Given the description of an element on the screen output the (x, y) to click on. 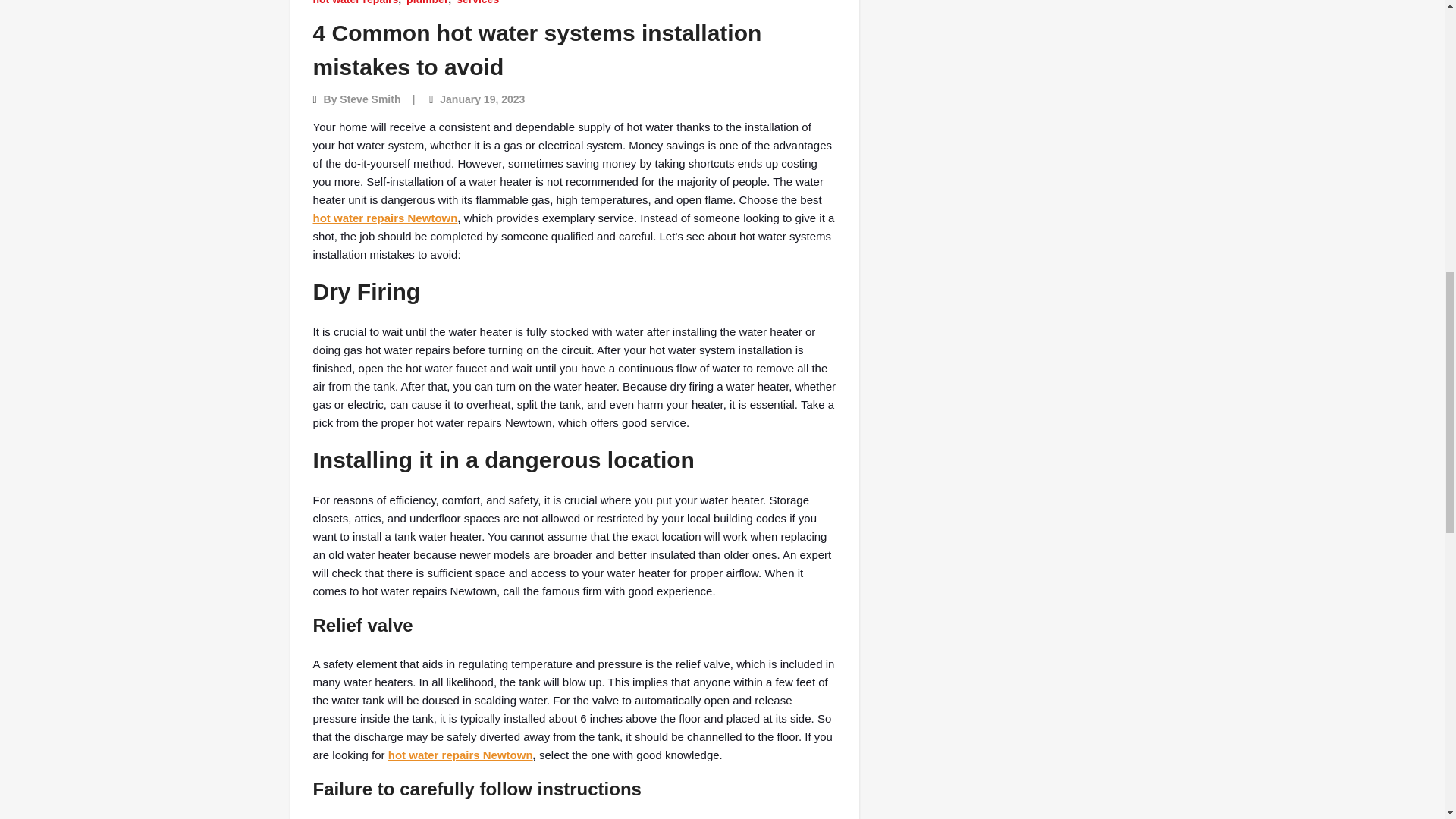
plumber (427, 3)
hot water repairs (355, 3)
hot water repairs Newtown (385, 217)
services (478, 3)
January 19, 2023 (481, 99)
hot water repairs Newtown (460, 754)
Steve Smith (369, 99)
